Given the description of an element on the screen output the (x, y) to click on. 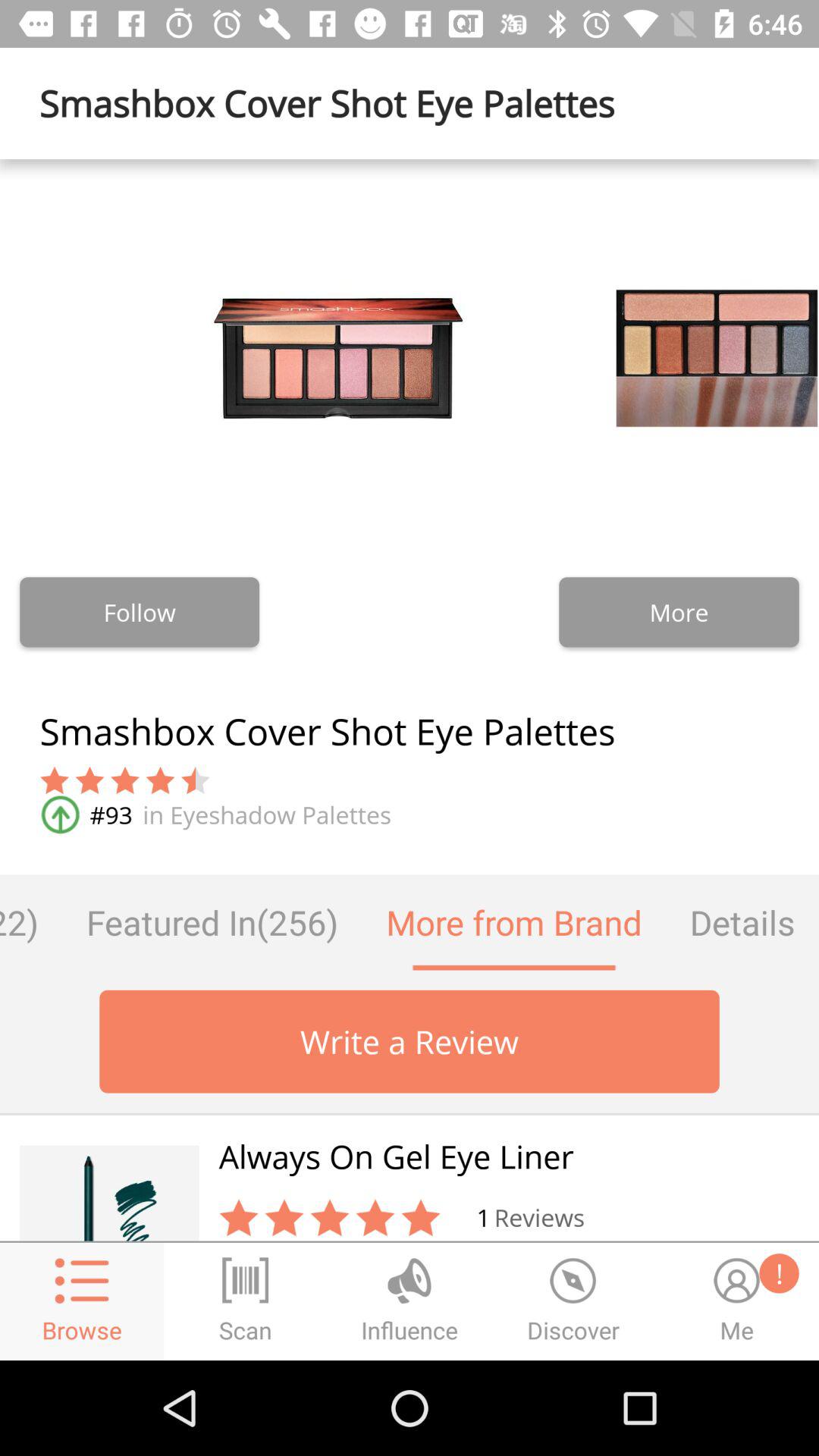
choose item to the left of more item (139, 612)
